Given the description of an element on the screen output the (x, y) to click on. 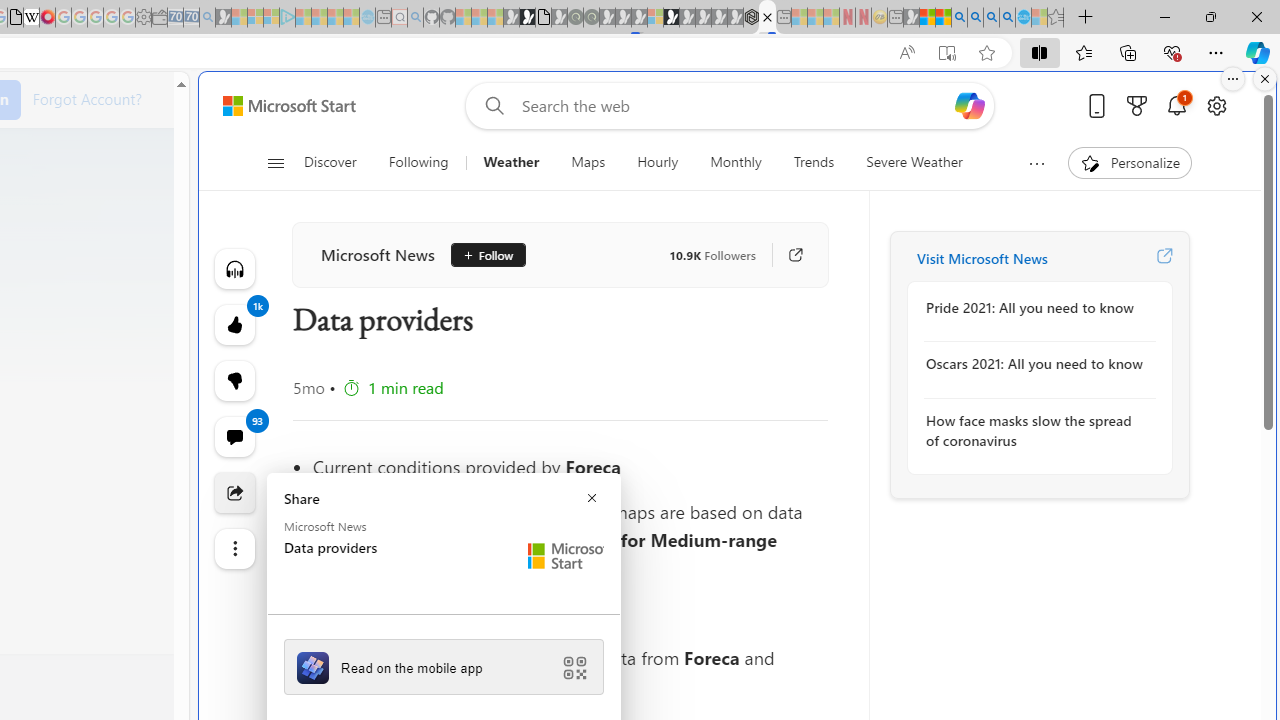
MSN - Sleeping (911, 17)
Data providers (767, 17)
Share this story (234, 492)
Other map data provided by Foreca (570, 613)
